Given the description of an element on the screen output the (x, y) to click on. 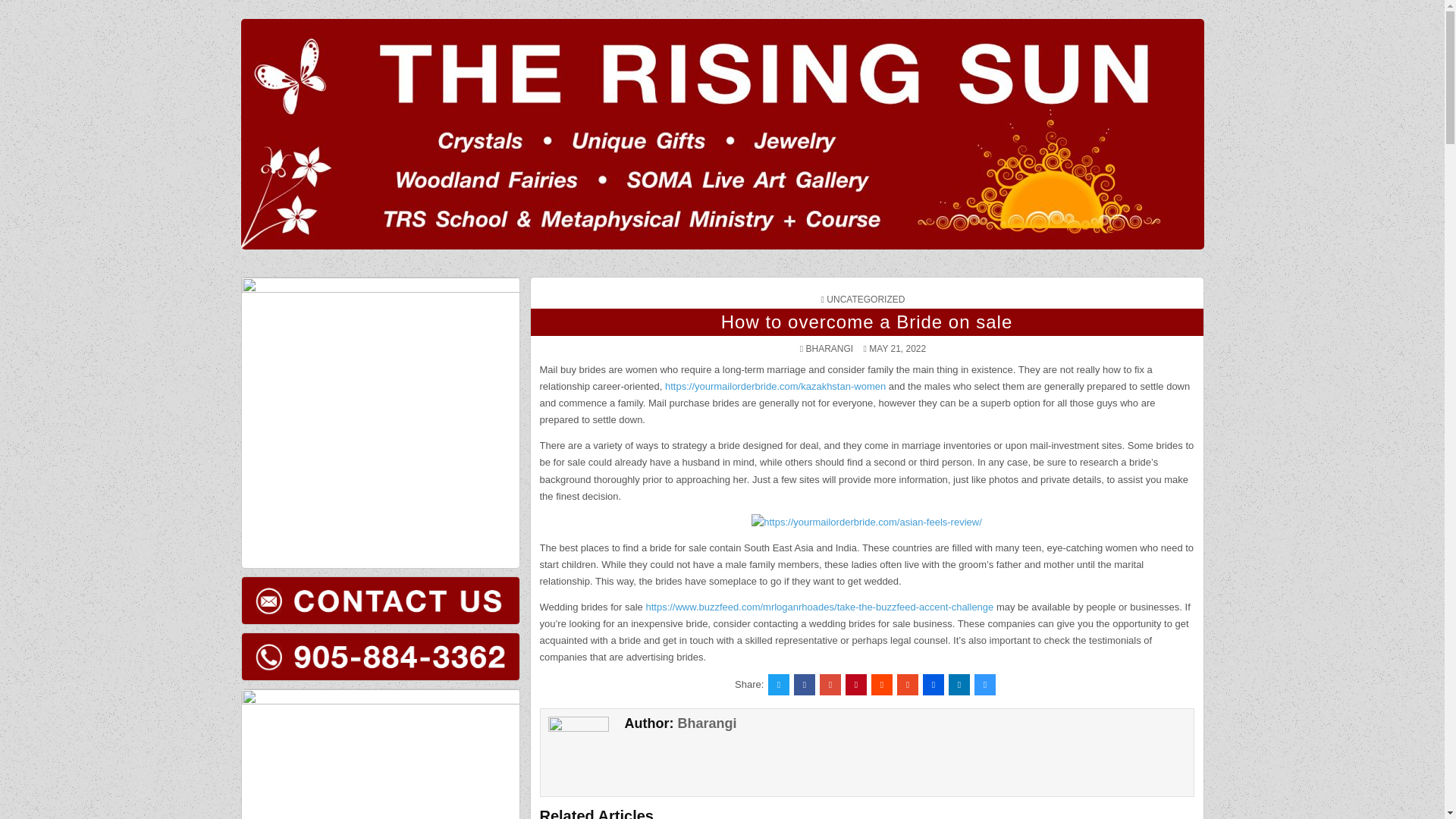
Share this on Delicious (984, 683)
Share this on Stumbleupon (907, 683)
UNCATEGORIZED (865, 299)
Share this on Reddit (881, 683)
Share this on Linkedin (959, 683)
Share this on Digg (933, 683)
Bharangi (706, 723)
Share this on Facebook (804, 683)
BHARANGI (829, 348)
How to overcome a Bride on sale (866, 322)
Share this on Pinterest (855, 683)
Tweet This! (778, 683)
